Given the description of an element on the screen output the (x, y) to click on. 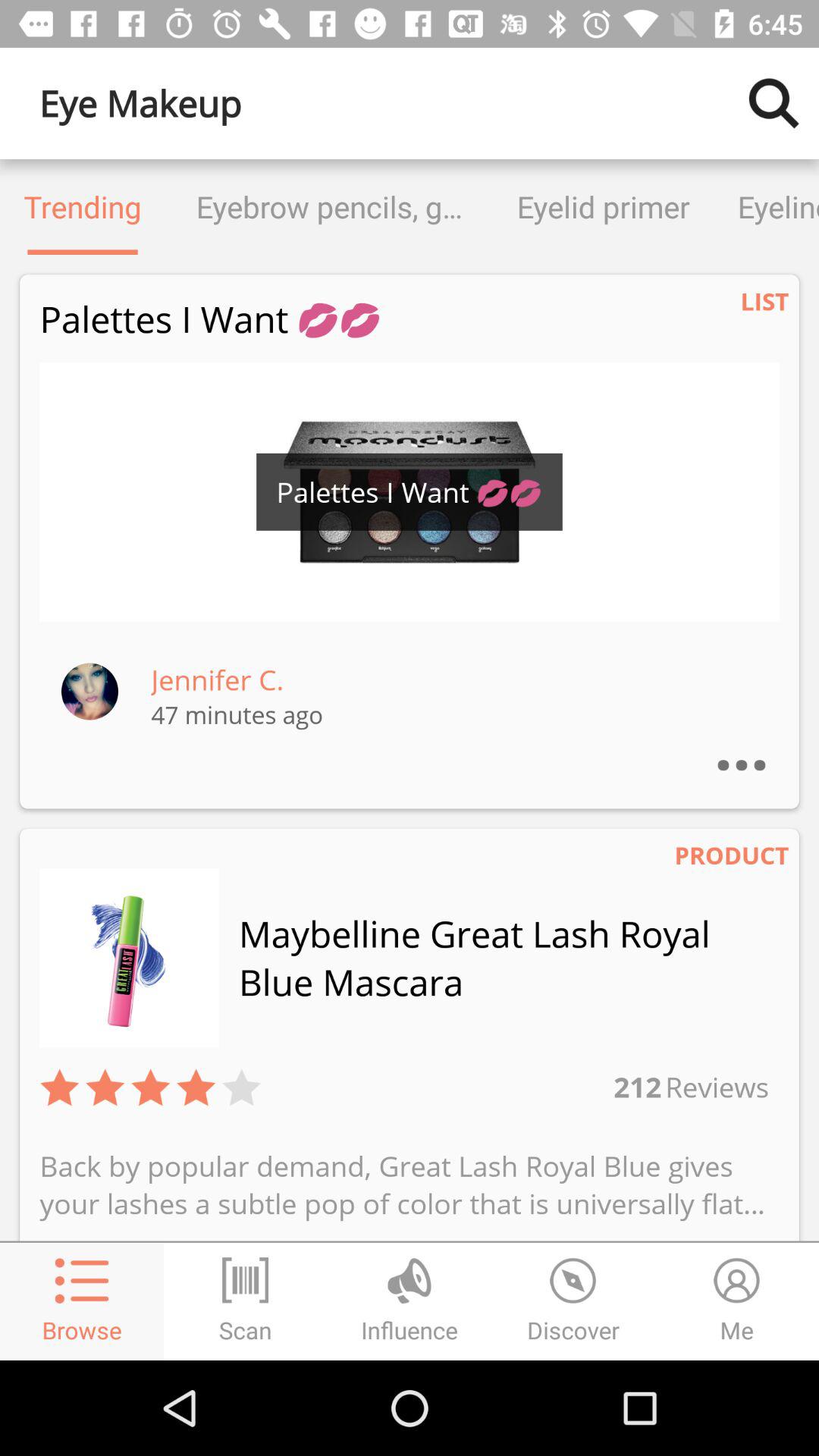
tap the eyelid primer icon (603, 206)
